Given the description of an element on the screen output the (x, y) to click on. 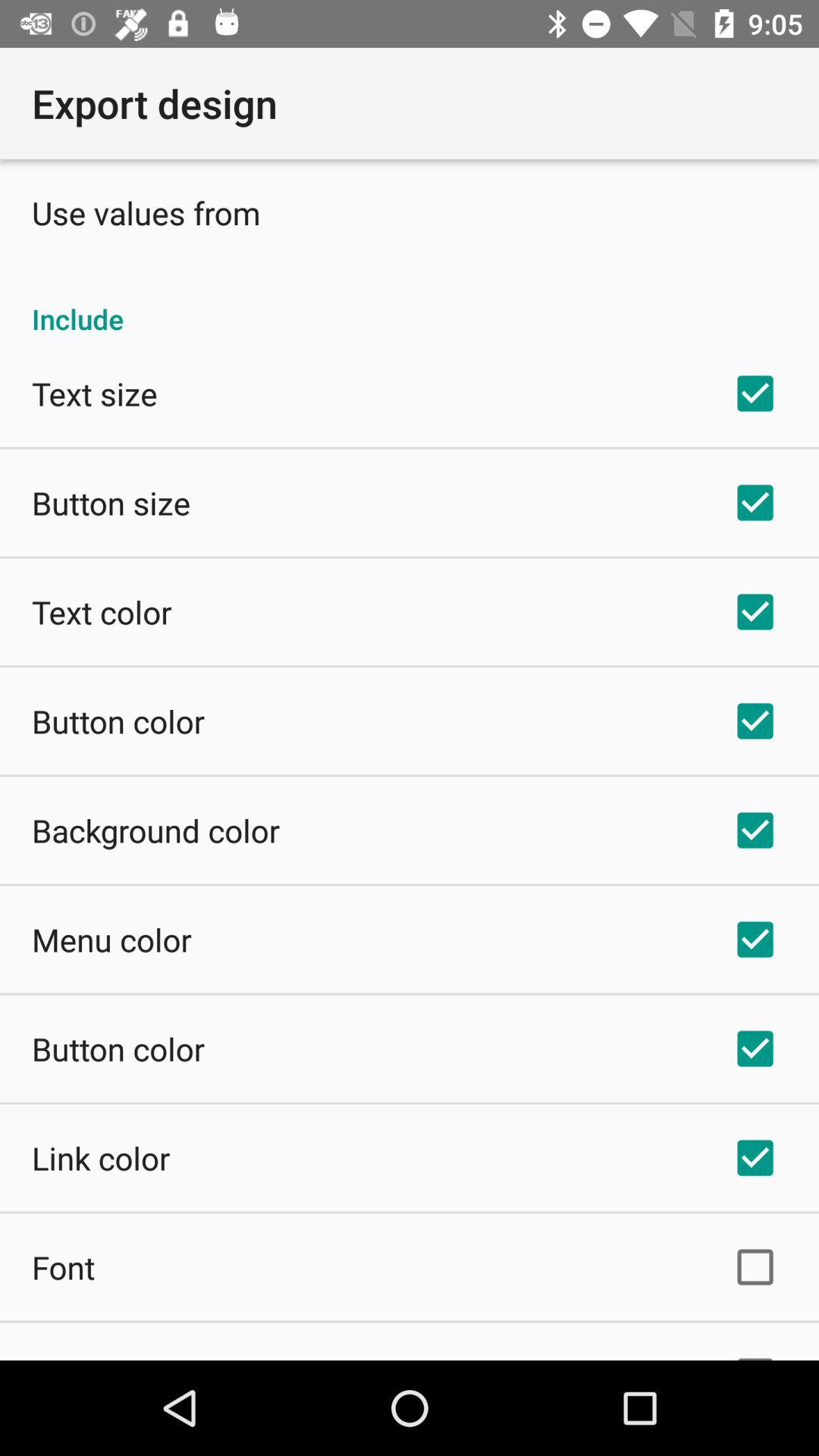
choose the include app (409, 302)
